Given the description of an element on the screen output the (x, y) to click on. 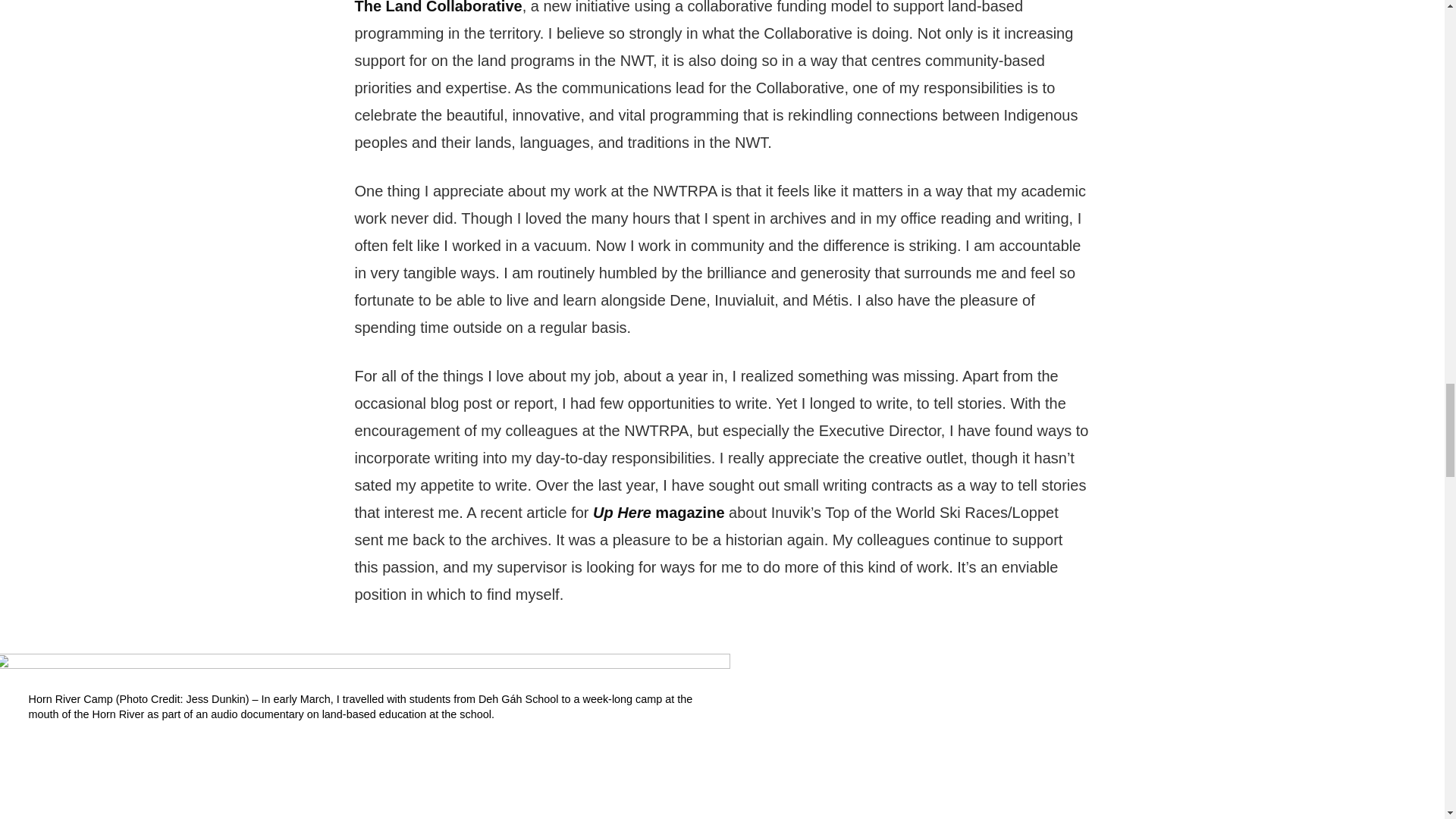
NWT On The Land Collaborative (712, 7)
magazine (689, 512)
Up Here (621, 512)
